Given the description of an element on the screen output the (x, y) to click on. 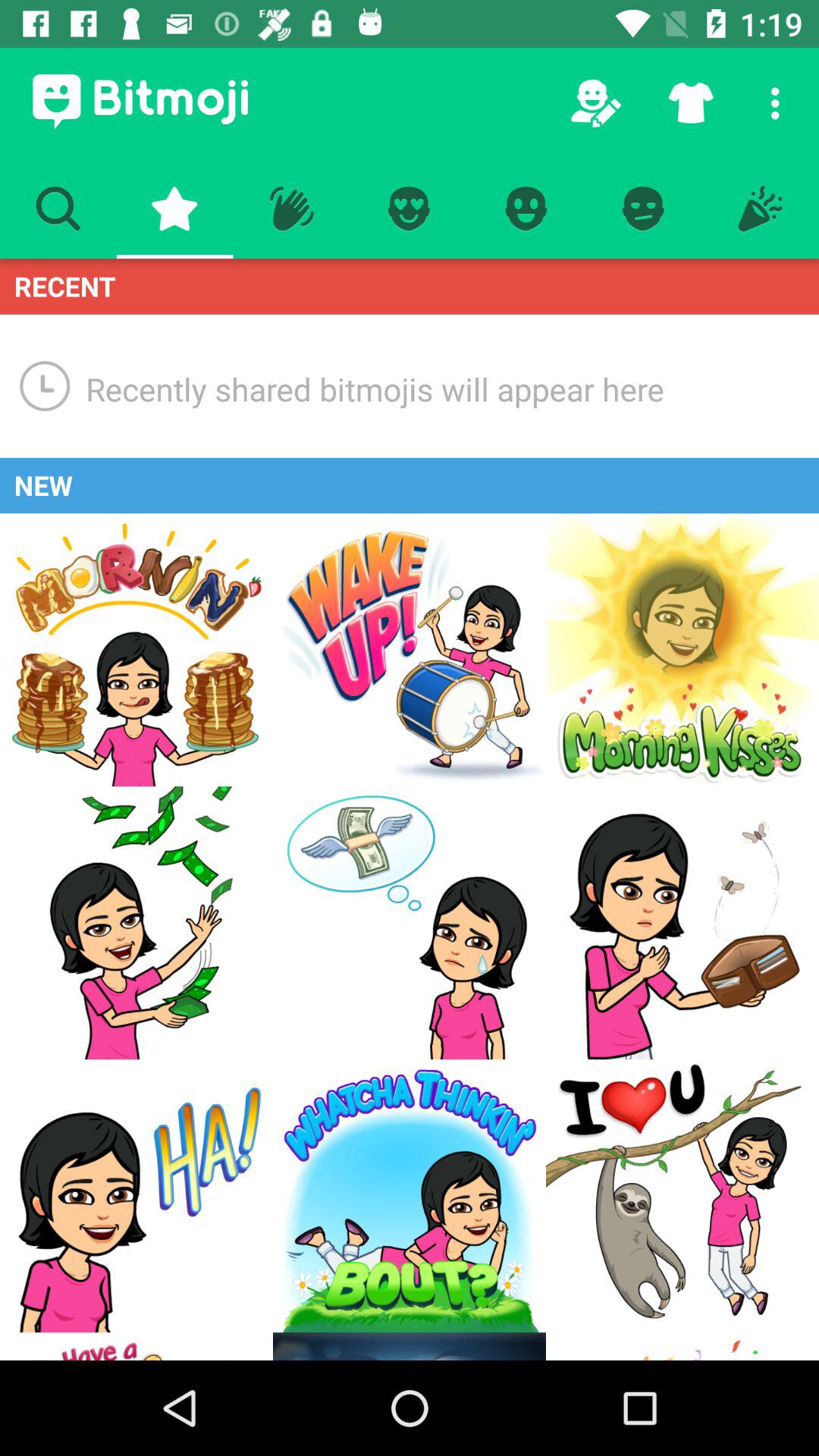
select ha emoji (136, 1195)
